Given the description of an element on the screen output the (x, y) to click on. 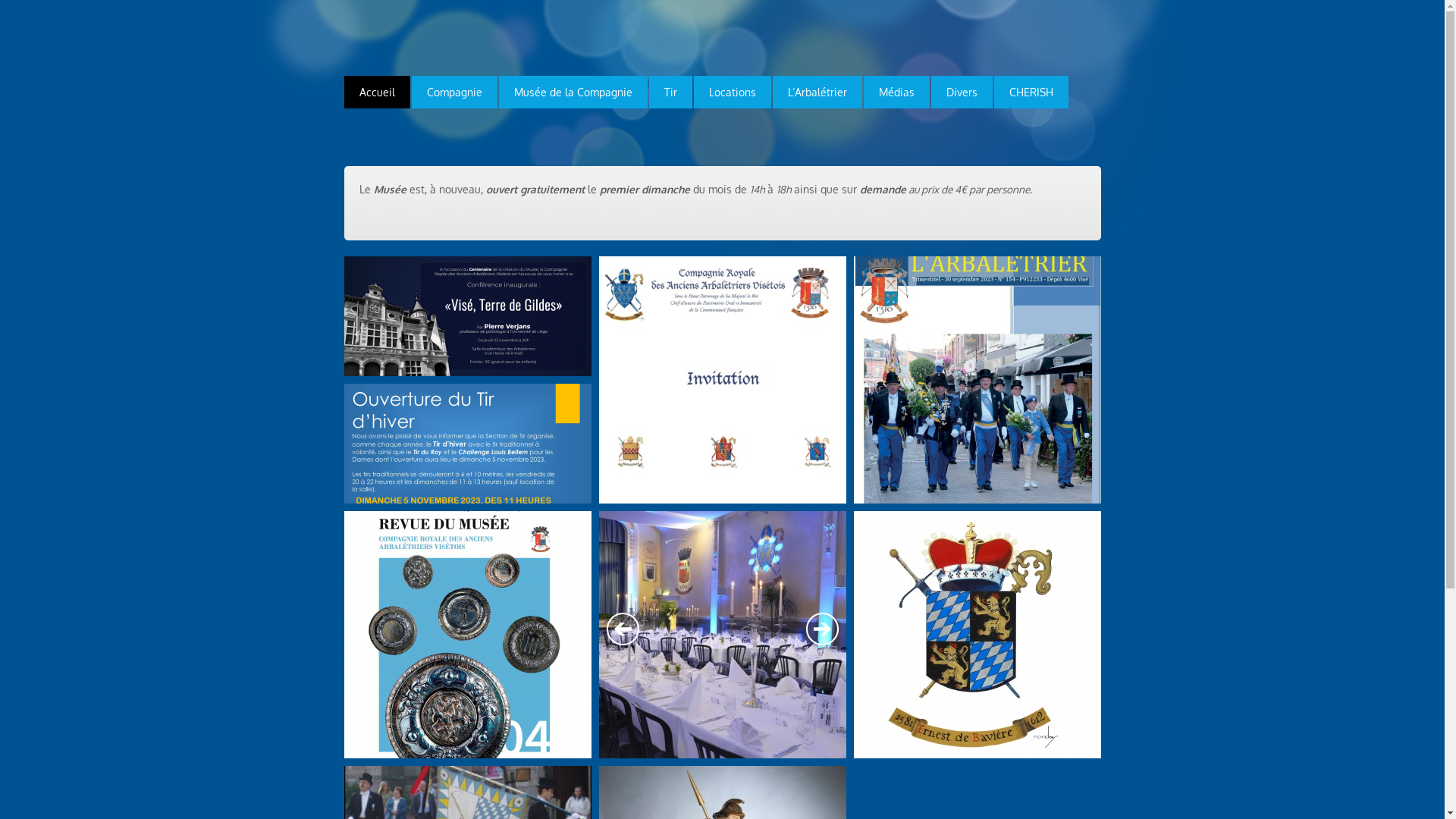
Accueil Element type: text (377, 91)
Tir Element type: text (670, 91)
Locations Element type: text (731, 91)
Compagnie Element type: text (453, 91)
Divers Element type: text (961, 91)
Histoire
Histoire de la Compagnie Element type: text (977, 646)
CHERISH Element type: text (1030, 91)
